Given the description of an element on the screen output the (x, y) to click on. 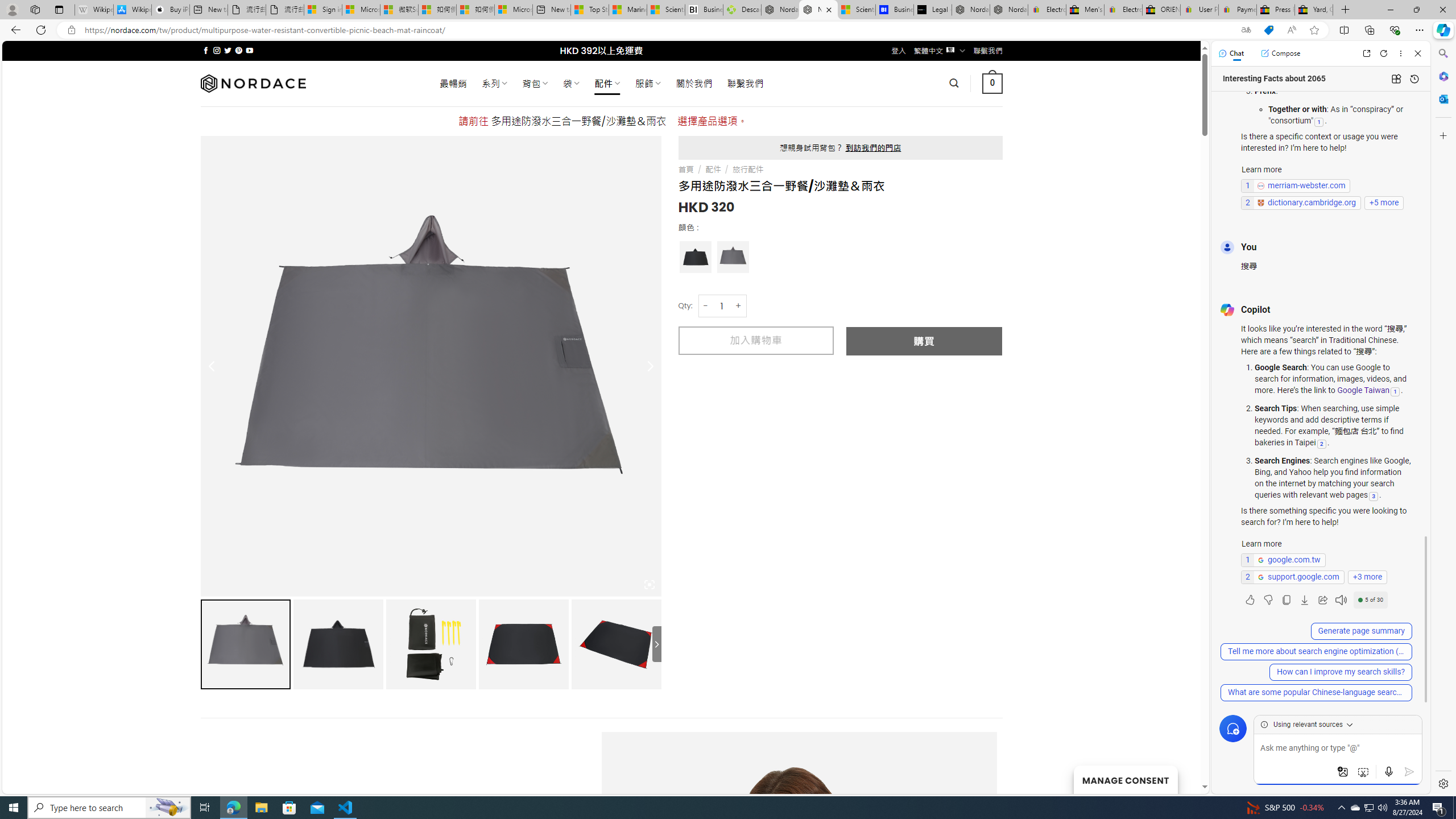
Follow on Pinterest (237, 50)
  0   (992, 83)
Minimize Search pane (1442, 53)
